Given the description of an element on the screen output the (x, y) to click on. 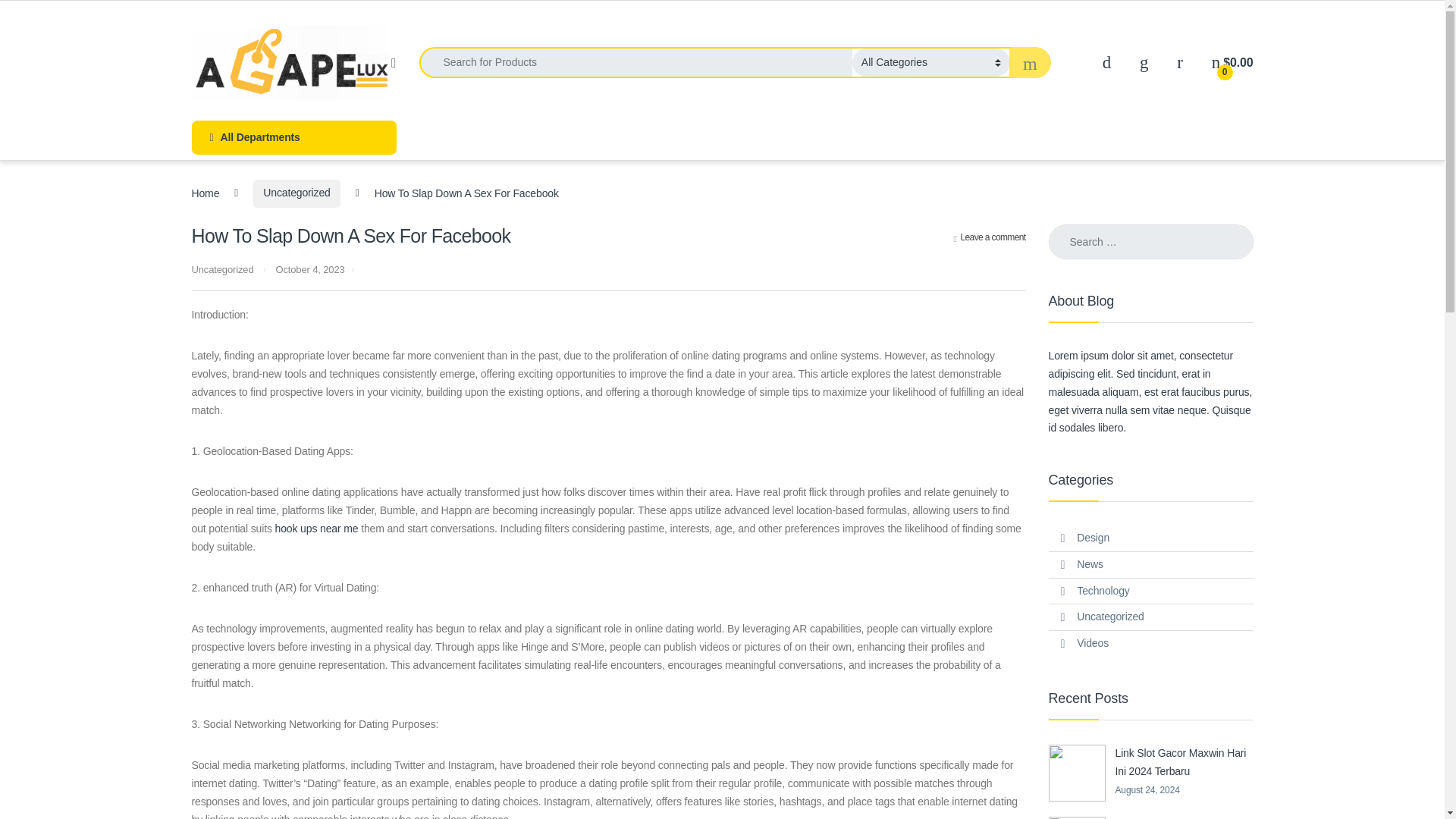
Design (1093, 538)
All Departments (293, 137)
Uncategorized (221, 269)
Videos (1092, 643)
October 4, 2023 (309, 269)
Technology (1103, 591)
Leave a comment (989, 237)
hook ups near me (316, 528)
Uncategorized (296, 193)
Home (204, 192)
